Given the description of an element on the screen output the (x, y) to click on. 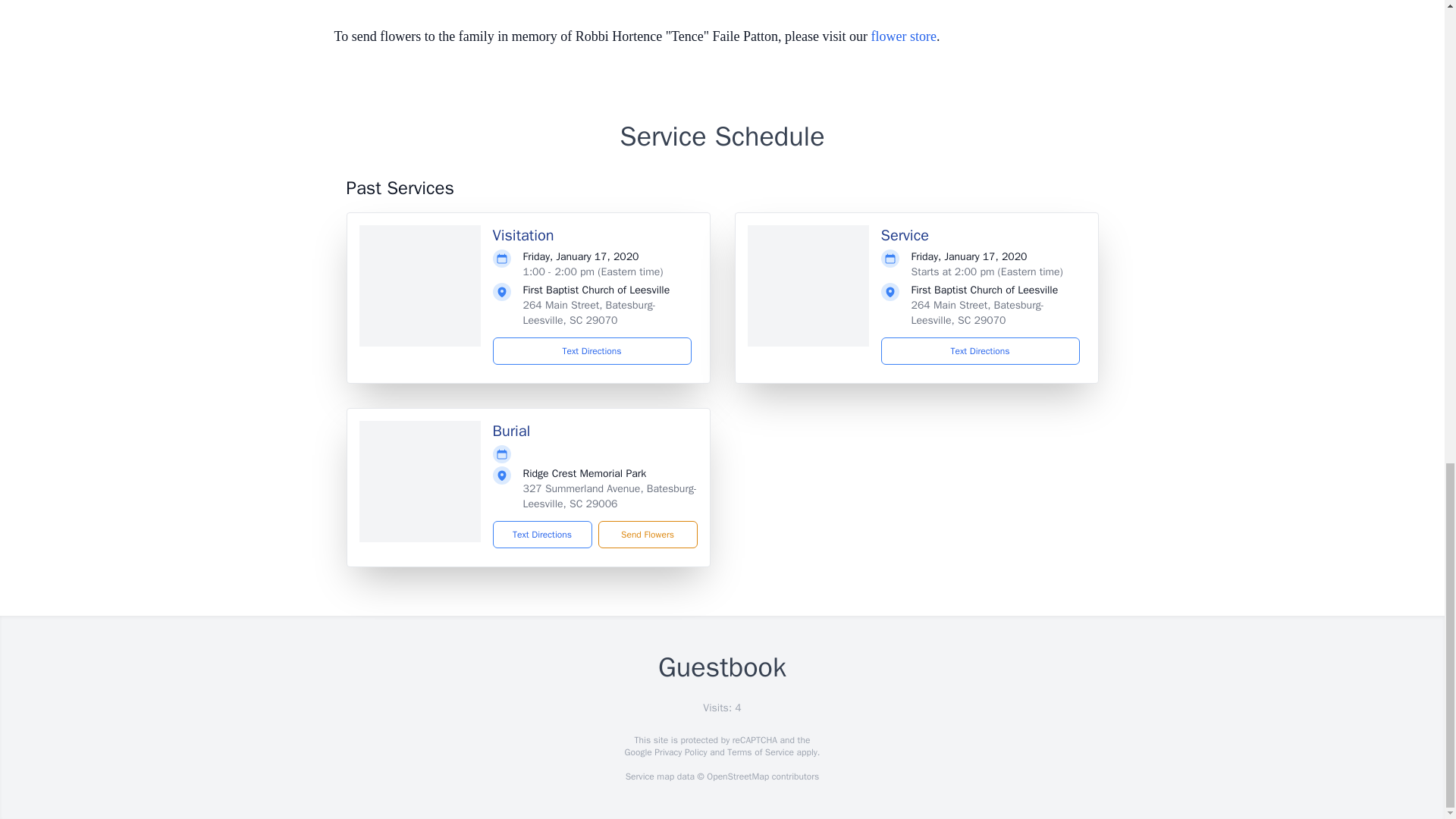
Text Directions (592, 350)
Text Directions (980, 350)
264 Main Street, Batesburg-Leesville, SC 29070 (977, 312)
Privacy Policy (679, 752)
flower store (903, 36)
Text Directions (542, 533)
Terms of Service (759, 752)
Send Flowers (646, 533)
OpenStreetMap (737, 776)
264 Main Street, Batesburg-Leesville, SC 29070 (589, 312)
